Given the description of an element on the screen output the (x, y) to click on. 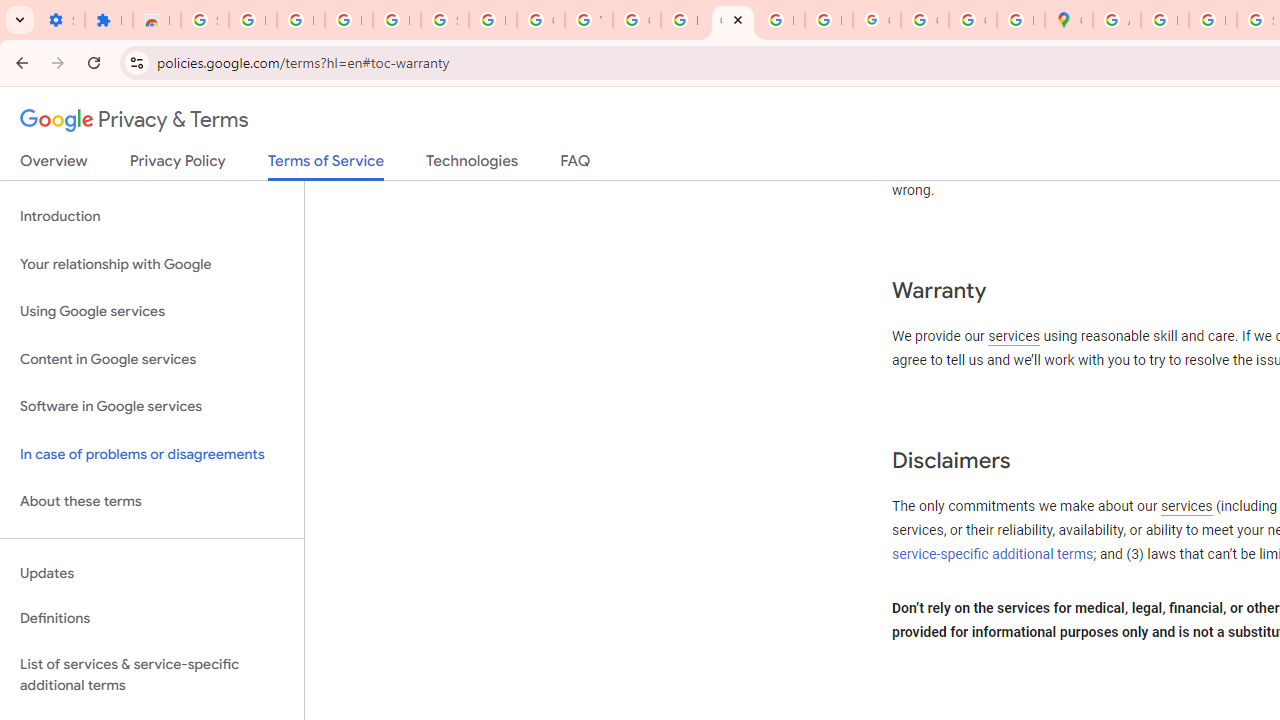
Sign in - Google Accounts (204, 20)
Using Google services (152, 312)
https://scholar.google.com/ (684, 20)
service-specific additional terms (993, 554)
